Given the description of an element on the screen output the (x, y) to click on. 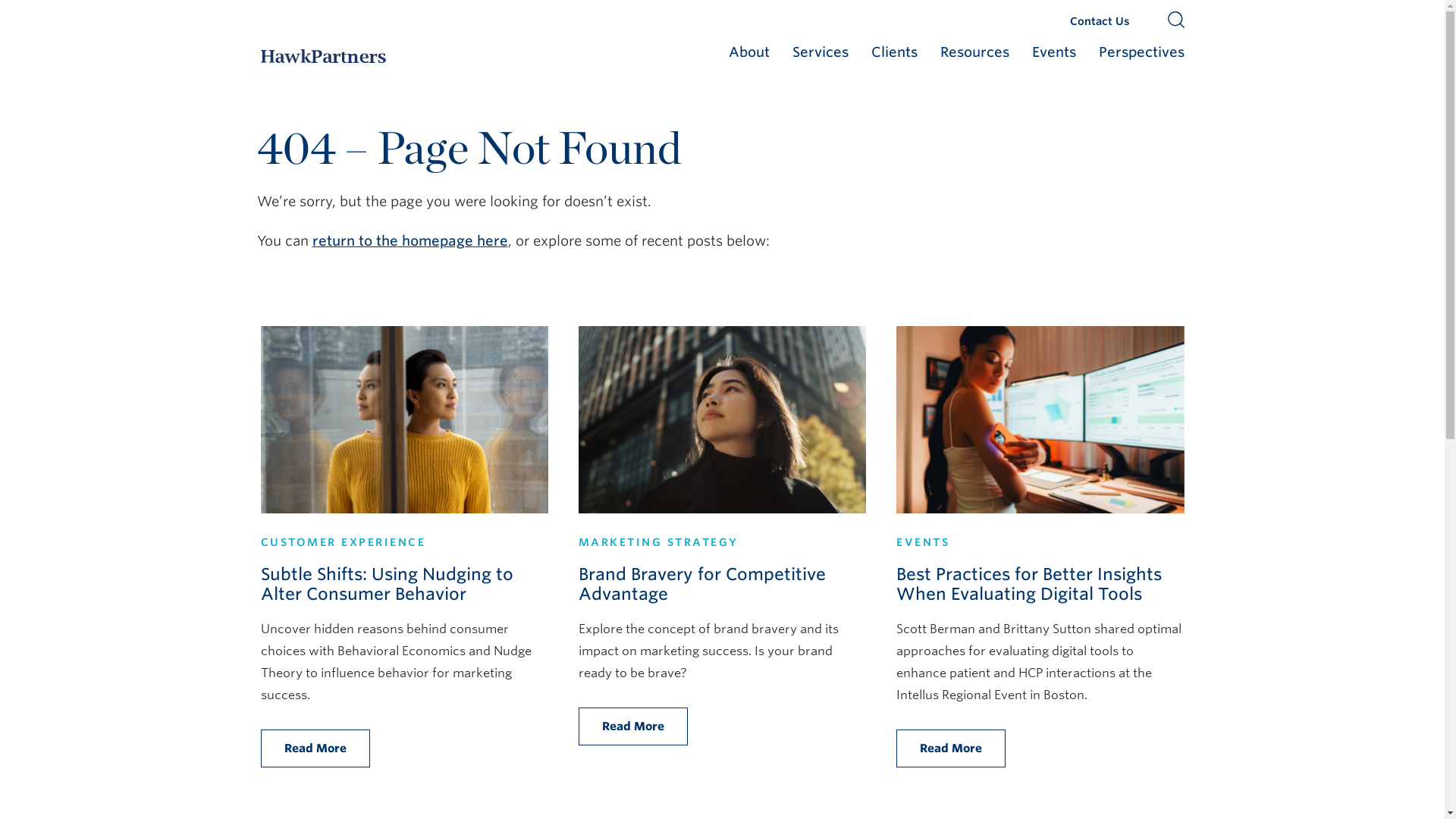
View more in Customer Experience (343, 541)
Services (819, 55)
Resources (974, 55)
Read more about Brand Bravery for Competitive Advantage (701, 583)
Clients (893, 55)
Read more about Brand Bravery for Competitive Advantage (722, 419)
Click to Search (1176, 23)
Contact Us (1098, 21)
Home (322, 56)
View more in Marketing Strategy (658, 541)
Perspectives (1140, 55)
